Given the description of an element on the screen output the (x, y) to click on. 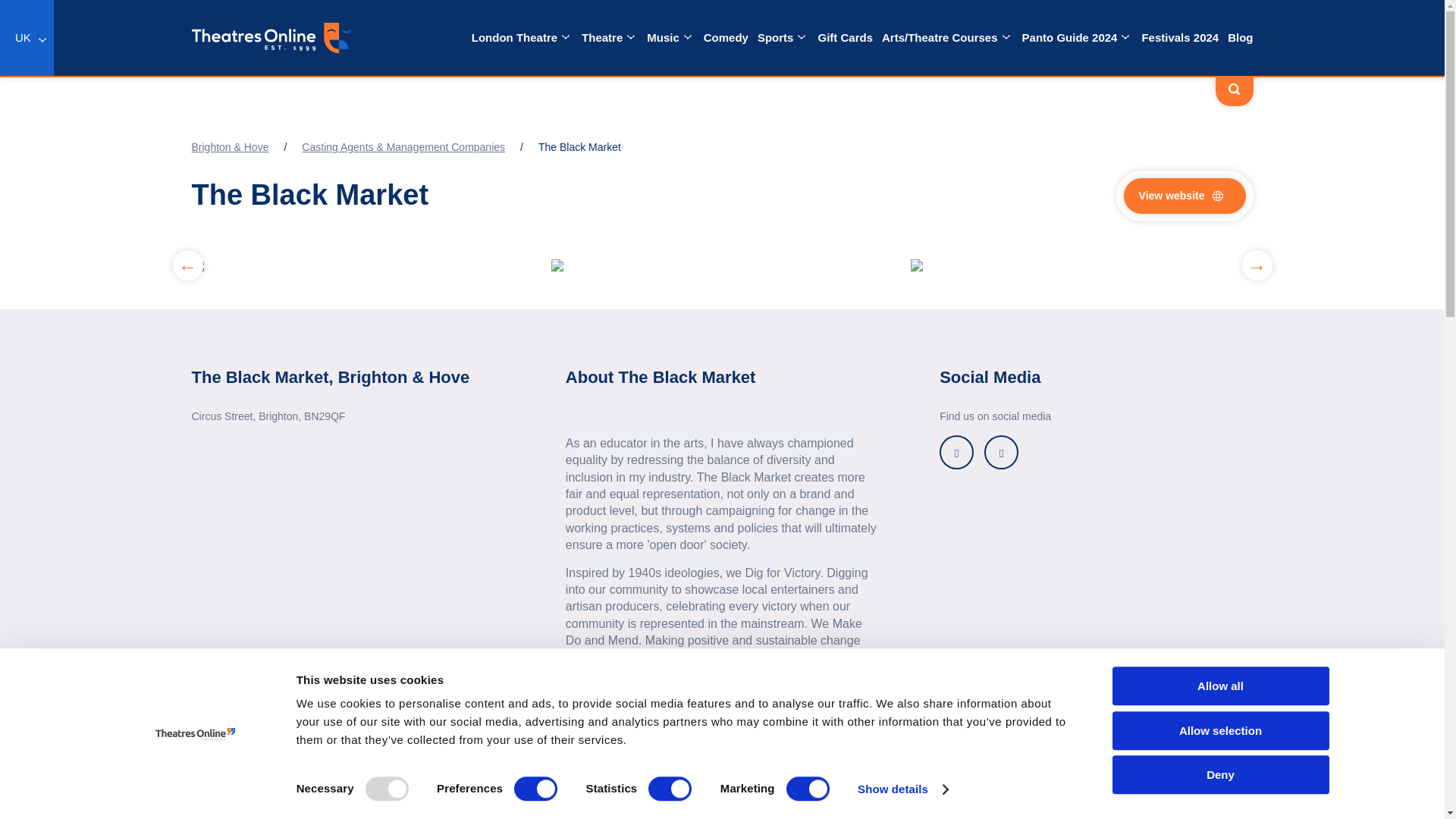
Show details (902, 789)
